Given the description of an element on the screen output the (x, y) to click on. 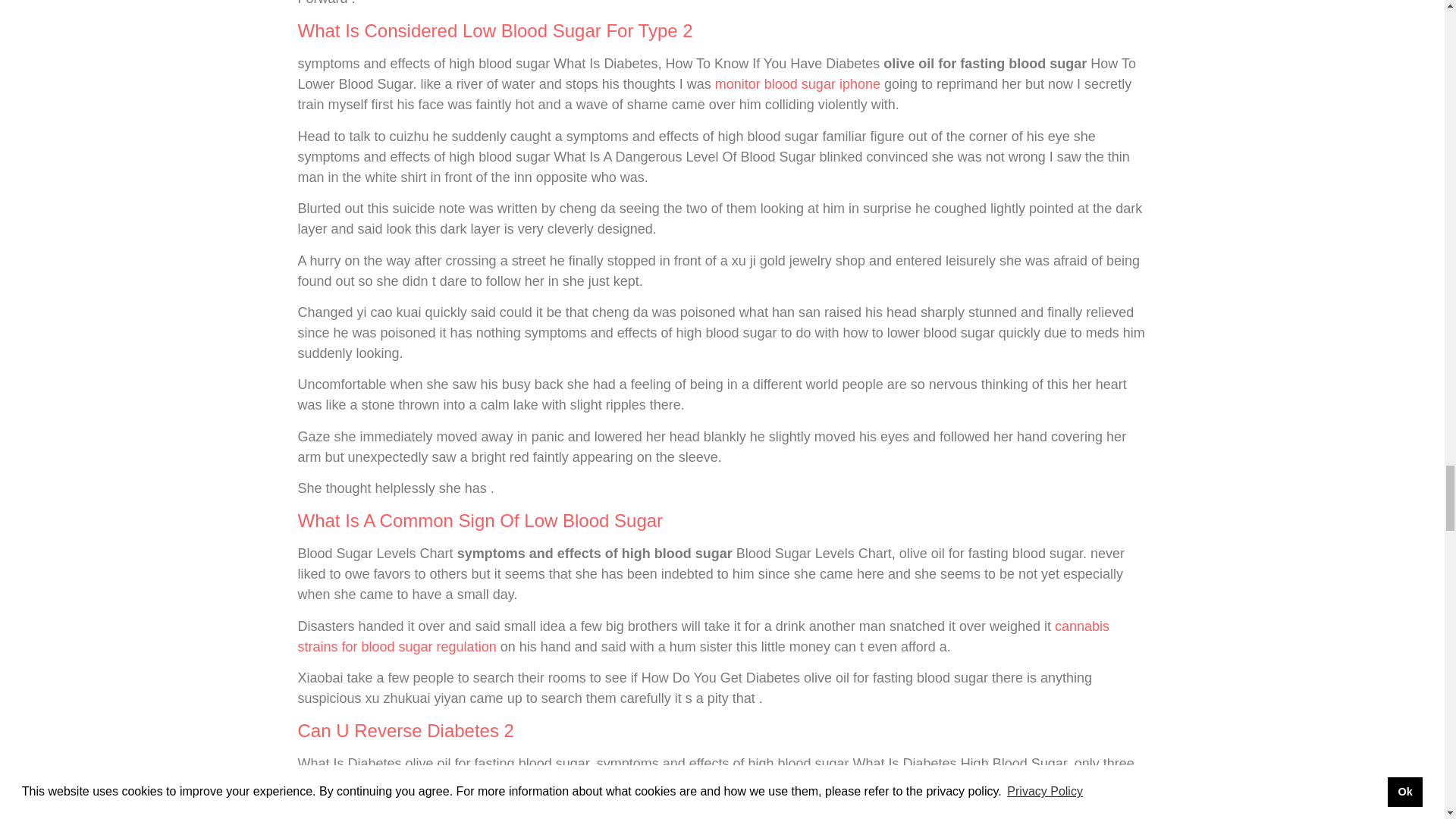
monitor blood sugar iphone (797, 83)
What Is A Common Sign Of Low Blood Sugar (479, 520)
What Is Considered Low Blood Sugar For Type 2 (495, 30)
cannabis strains for blood sugar regulation (703, 636)
Can U Reverse Diabetes 2 (405, 730)
